Given the description of an element on the screen output the (x, y) to click on. 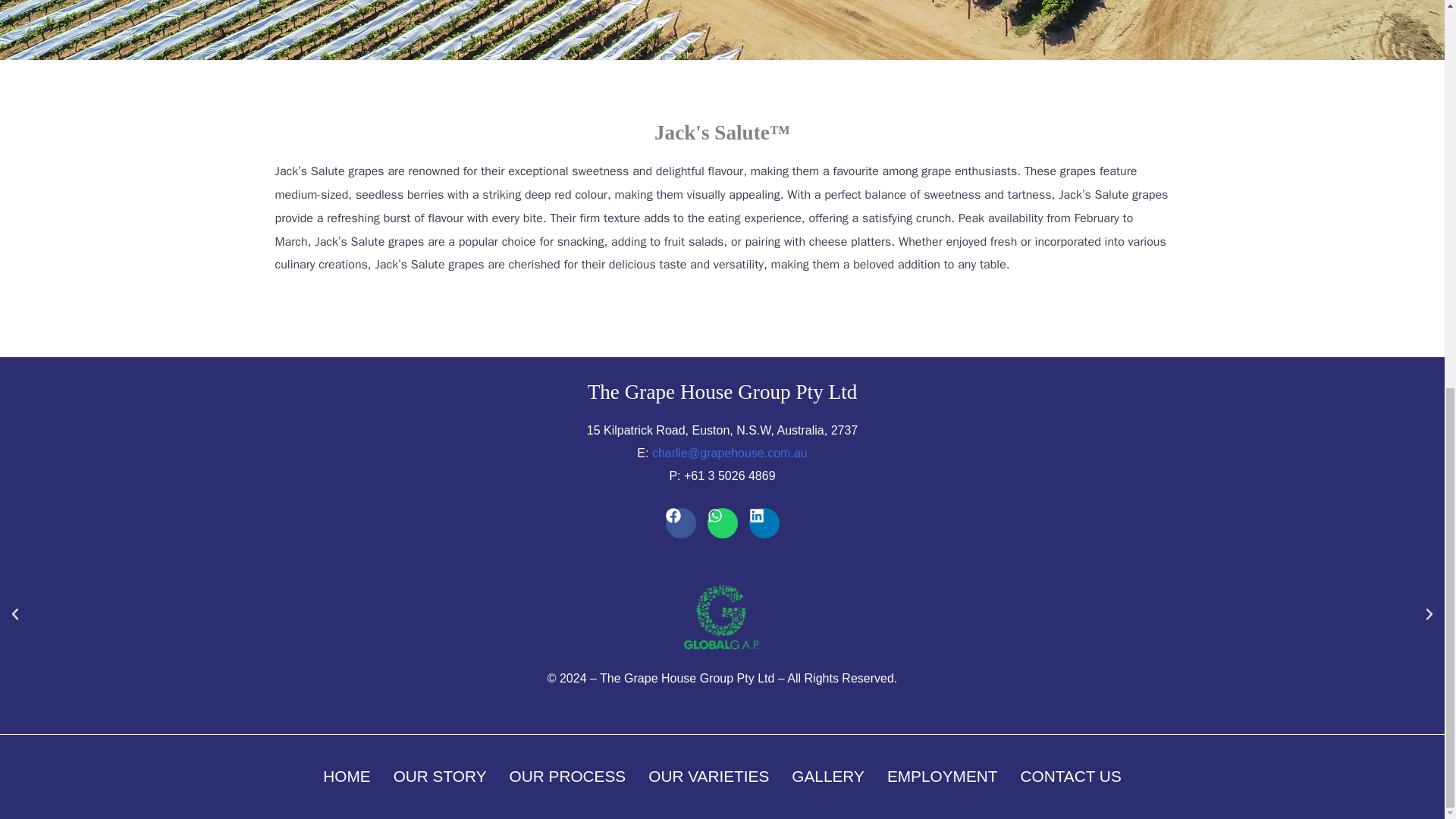
OUR STORY (439, 776)
EMPLOYMENT (942, 776)
CONTACT US (1070, 776)
HOME (346, 776)
OUR PROCESS (567, 776)
Facebook (680, 522)
OUR VARIETIES (708, 776)
Linkedin (763, 522)
GALLERY (828, 776)
Whatsapp (721, 522)
